Given the description of an element on the screen output the (x, y) to click on. 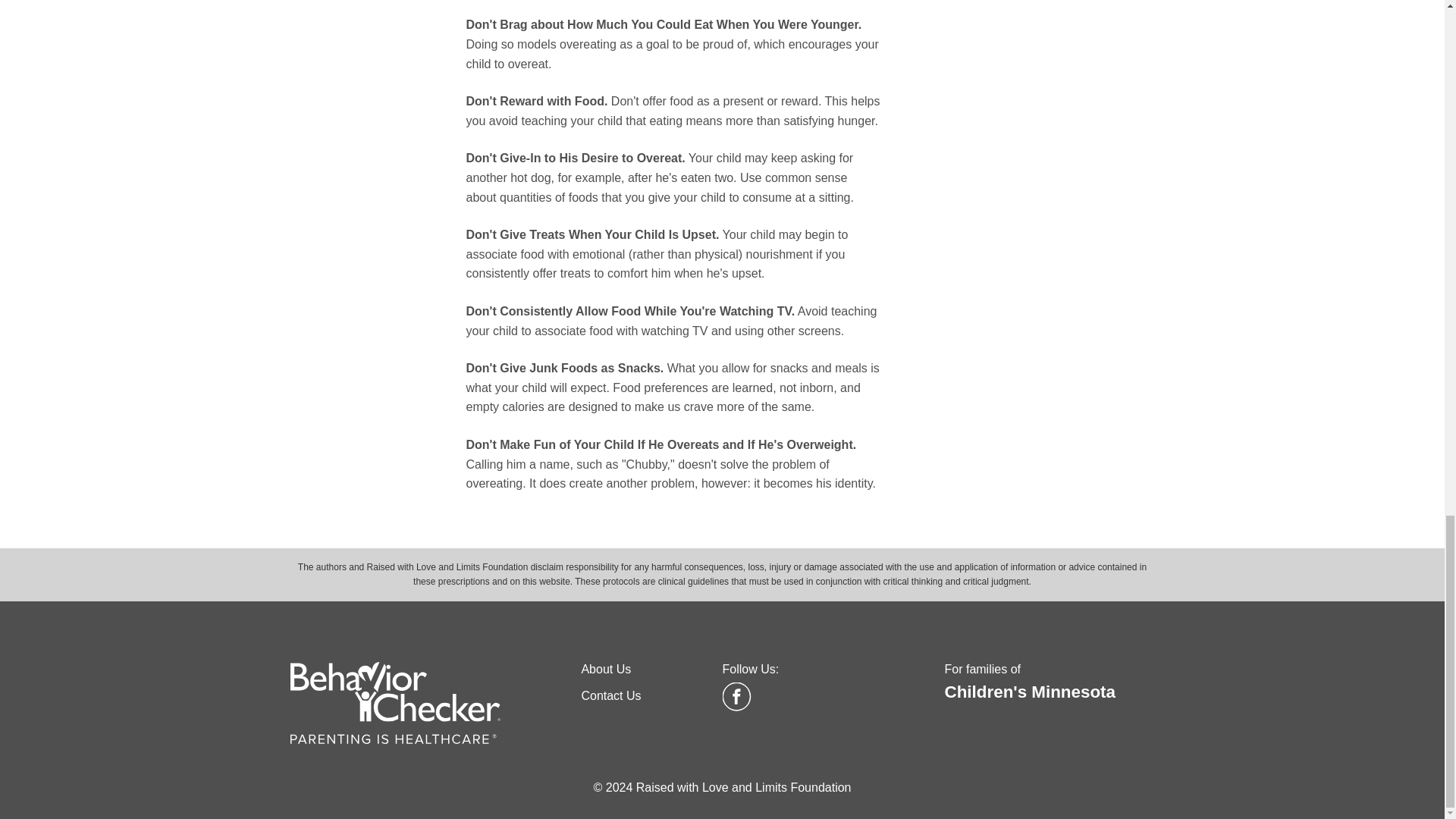
Contact Us (610, 695)
About Us (605, 668)
